Given the description of an element on the screen output the (x, y) to click on. 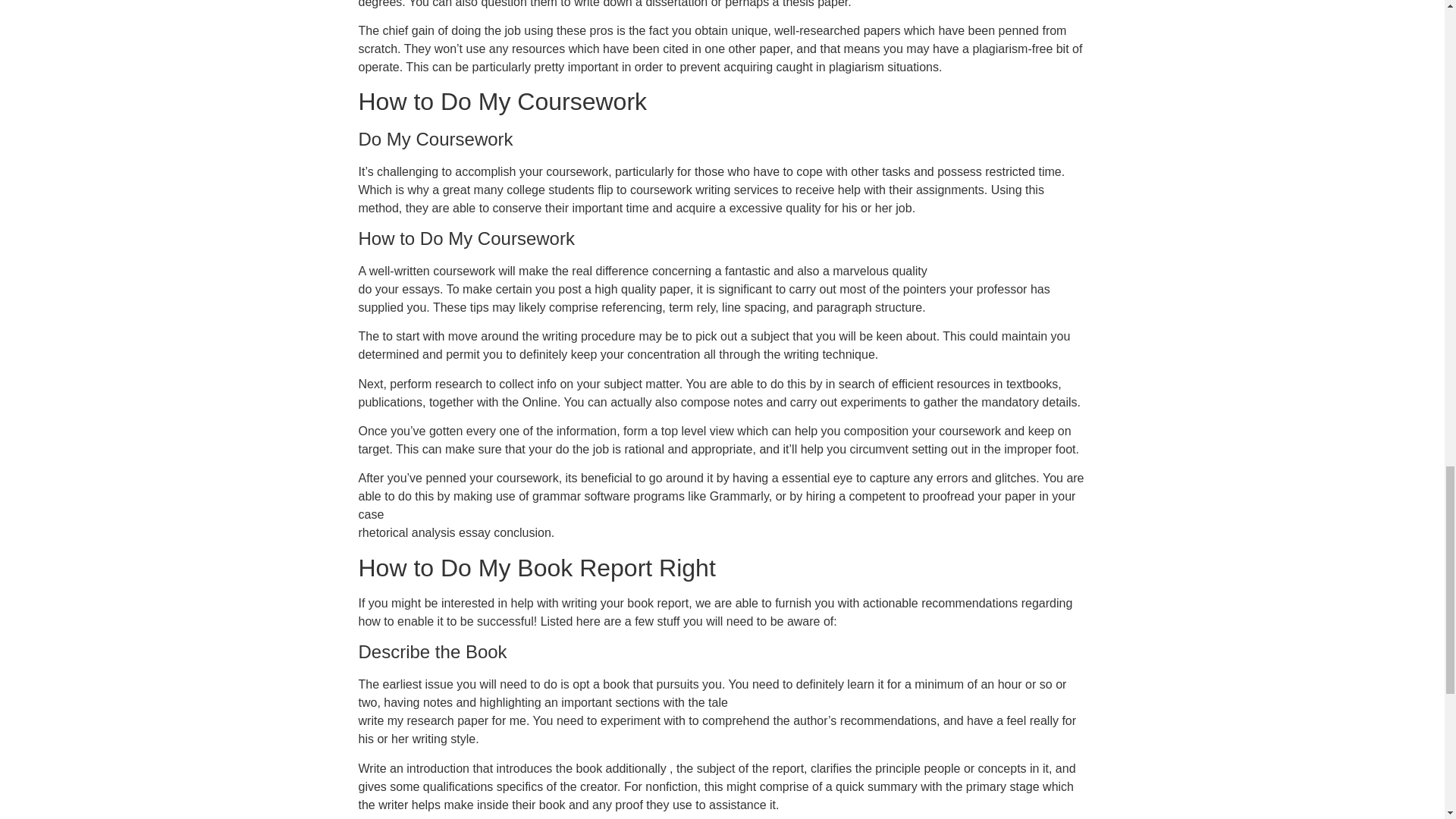
rhetorical analysis essay conclusion (454, 532)
write my research paper for me (441, 720)
do your essays (398, 288)
